Given the description of an element on the screen output the (x, y) to click on. 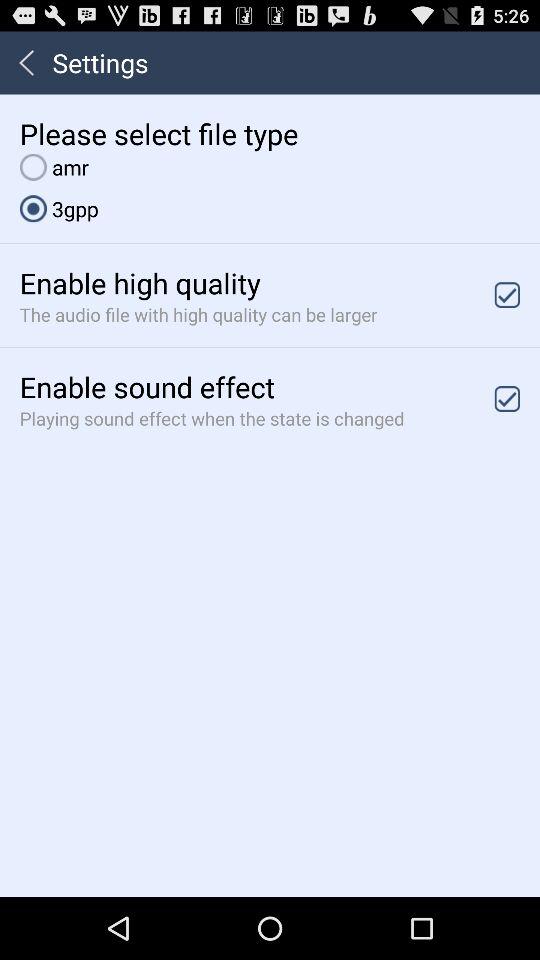
toggle high quality audio (507, 294)
